Given the description of an element on the screen output the (x, y) to click on. 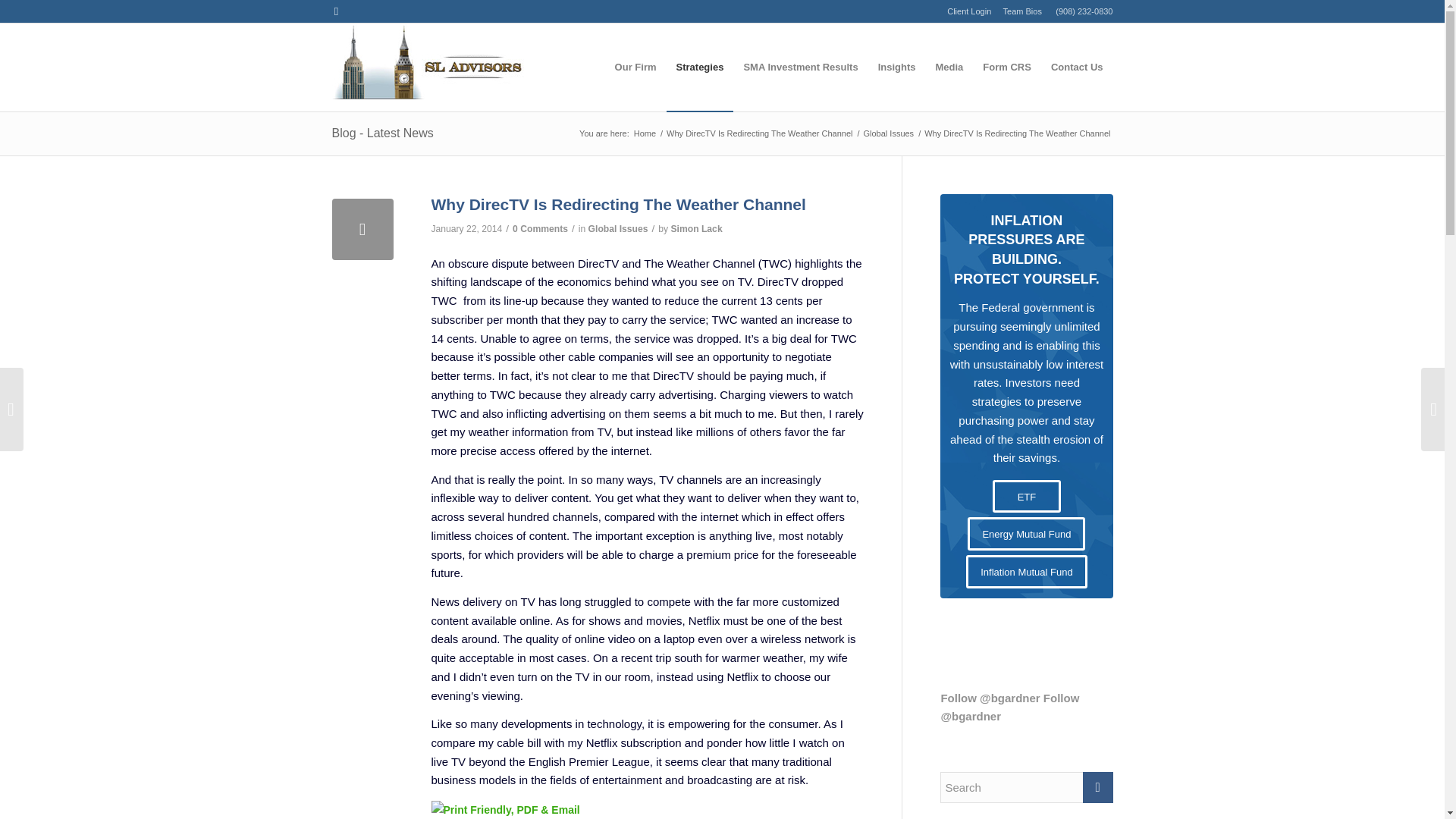
logo1 (427, 67)
Simon Lack (695, 228)
SL-Advisors (644, 133)
Permanent Link: Blog - Latest News (382, 132)
0 Comments (539, 228)
Home (644, 133)
Why DirecTV Is Redirecting The Weather Channel (758, 133)
Global Issues (887, 133)
Why DirecTV Is Redirecting The Weather Channel (758, 133)
Twitter (335, 11)
SMA Investment Results (800, 67)
Client Login (969, 10)
Posts by Simon Lack (695, 228)
Blog - Latest News (382, 132)
Global Issues (617, 228)
